Given the description of an element on the screen output the (x, y) to click on. 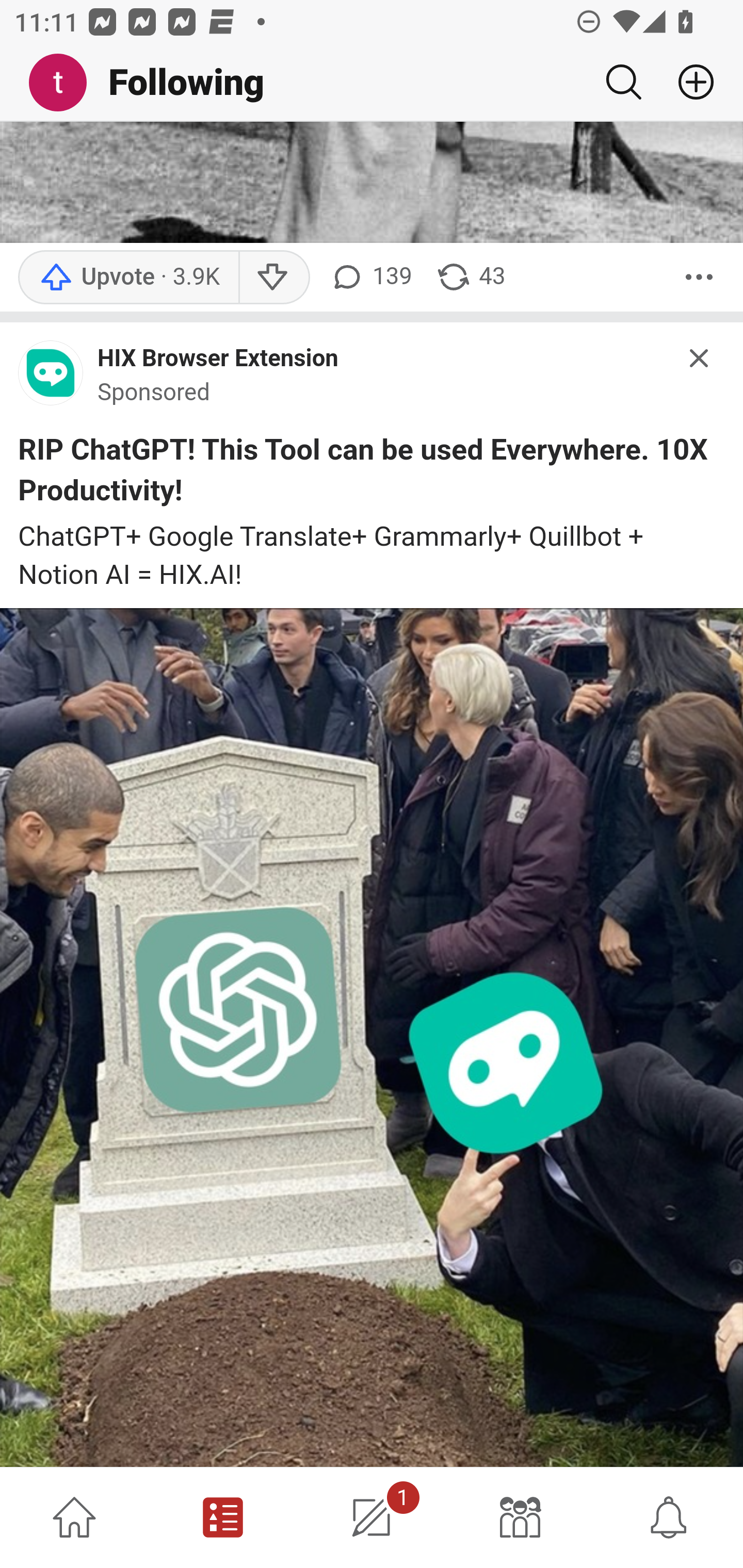
Me (64, 83)
Search (623, 82)
Add (688, 82)
Upvote (127, 277)
Downvote (273, 277)
139 comments (369, 277)
43 shares (470, 277)
More (699, 277)
Hide (699, 360)
main-qimg-a26aff9df7f072be8b0645a7a8a9dc4b (50, 378)
HIX Browser Extension (218, 360)
Sponsored (154, 394)
1 (371, 1517)
